Given the description of an element on the screen output the (x, y) to click on. 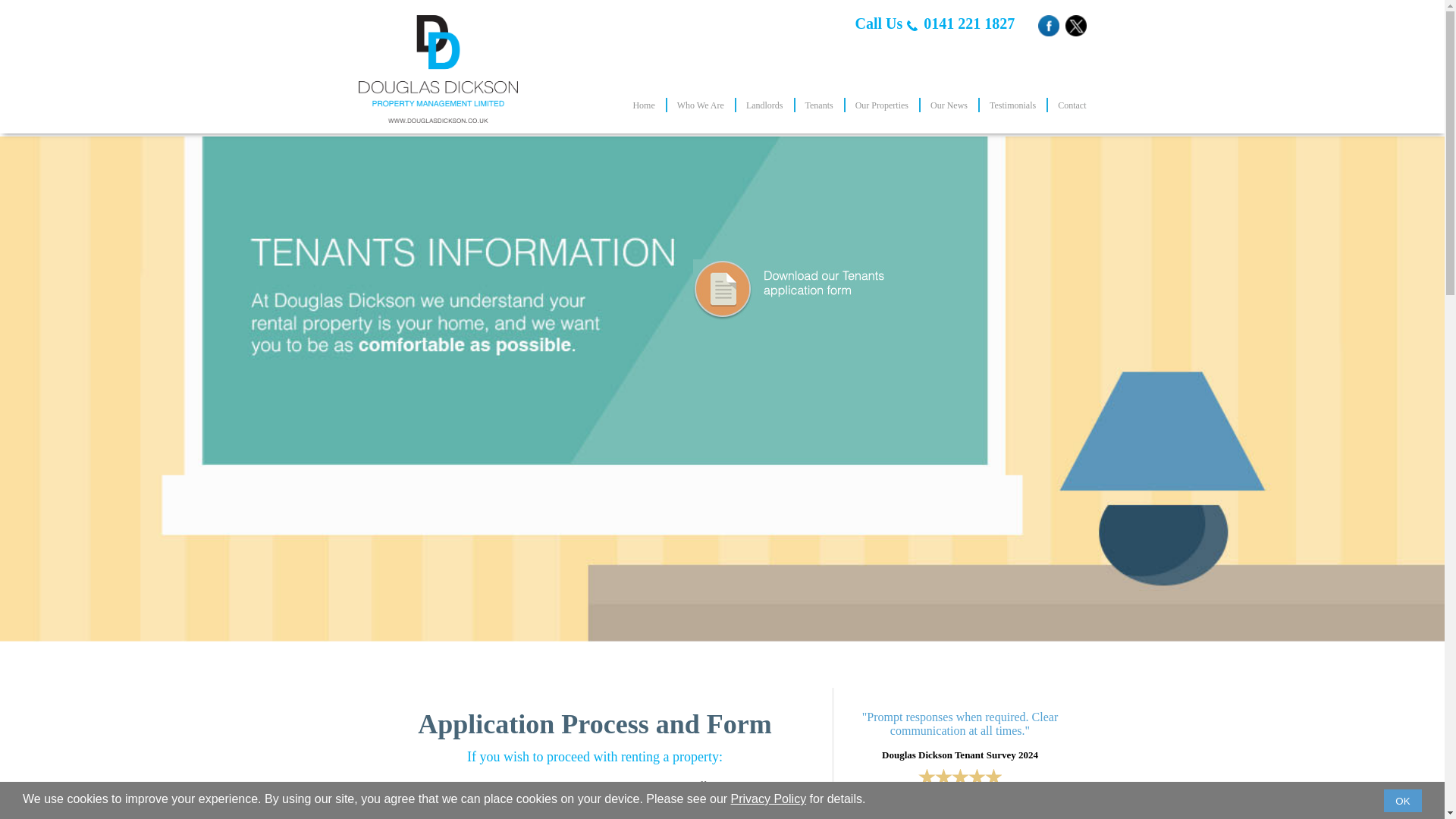
Tenants (818, 104)
OK (1403, 800)
Our Properties (882, 104)
Home (642, 104)
Our News (949, 104)
Testimonials (1012, 104)
Contact (1072, 104)
Who We Are (700, 104)
Privacy Policy (768, 798)
Landlords (764, 104)
